Given the description of an element on the screen output the (x, y) to click on. 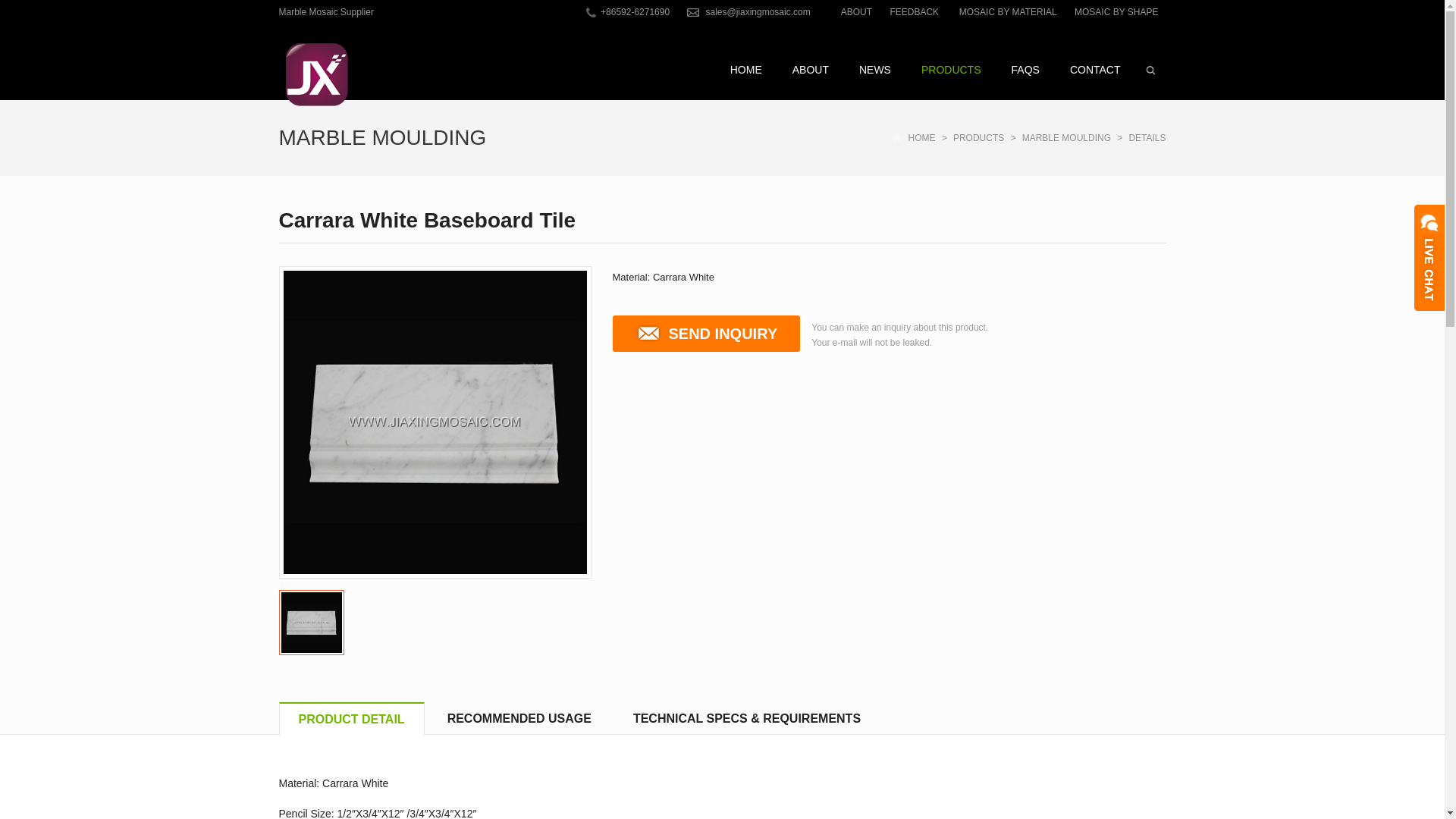
NEWS (874, 69)
ABOUT (855, 11)
MOSAIC BY MATERIAL (1008, 11)
PRODUCTS (950, 69)
FEEDBACK  (915, 11)
MOSAIC BY SHAPE (1116, 11)
ABOUT (810, 69)
HOME (745, 69)
Marble Moulding (382, 137)
